Given the description of an element on the screen output the (x, y) to click on. 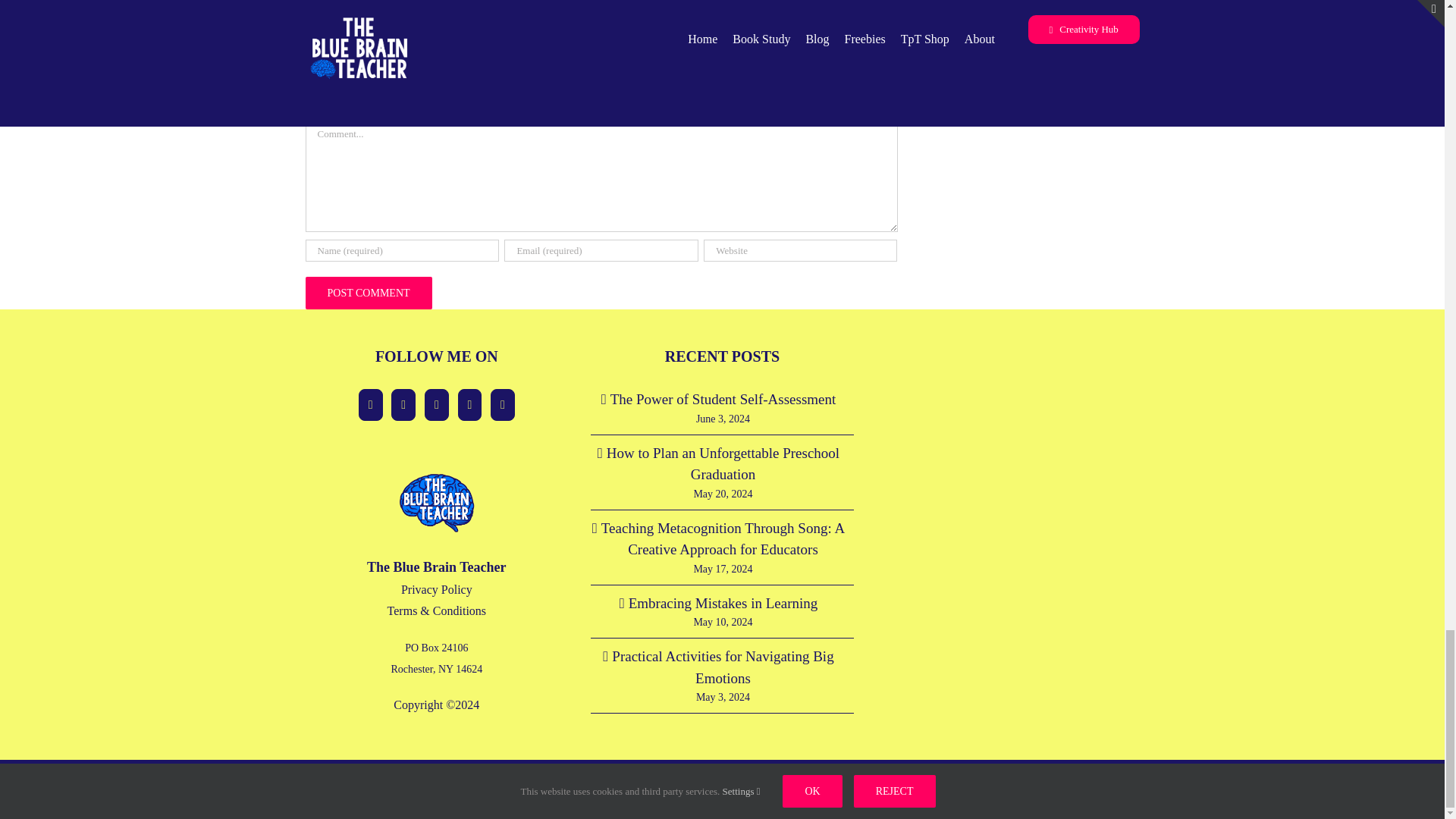
Embracing Mistakes in Learning (589, 6)
0 Comments (414, 36)
How to Plan an Unforgettable Preschool Graduation (382, 13)
Embracing Mistakes in Learning (589, 6)
Post Comment (367, 292)
How to Plan an Unforgettable Preschool Graduation (382, 13)
